Given the description of an element on the screen output the (x, y) to click on. 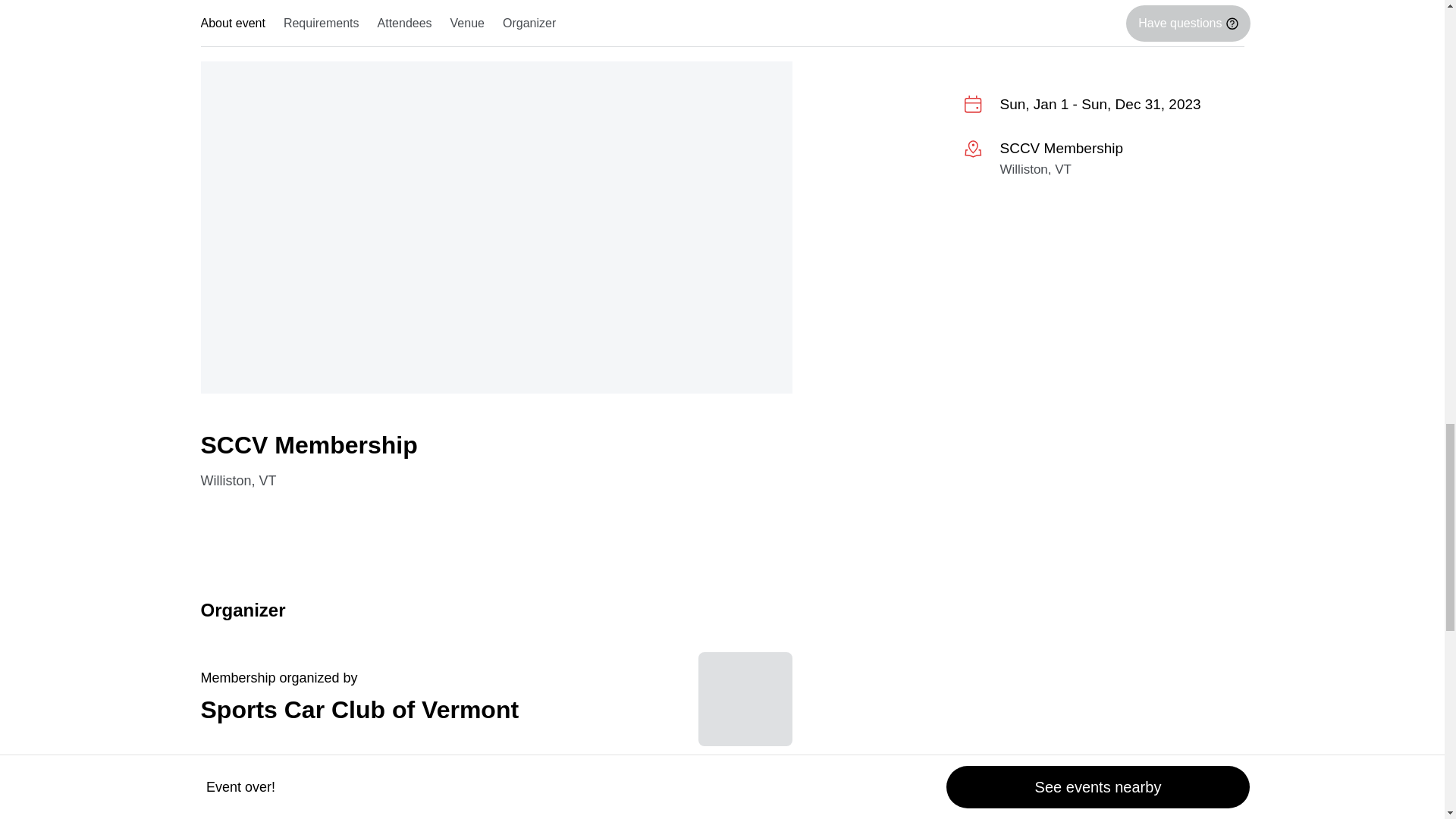
About (483, 793)
Contact (290, 793)
Membership (237, 677)
More events here (744, 24)
